Given the description of an element on the screen output the (x, y) to click on. 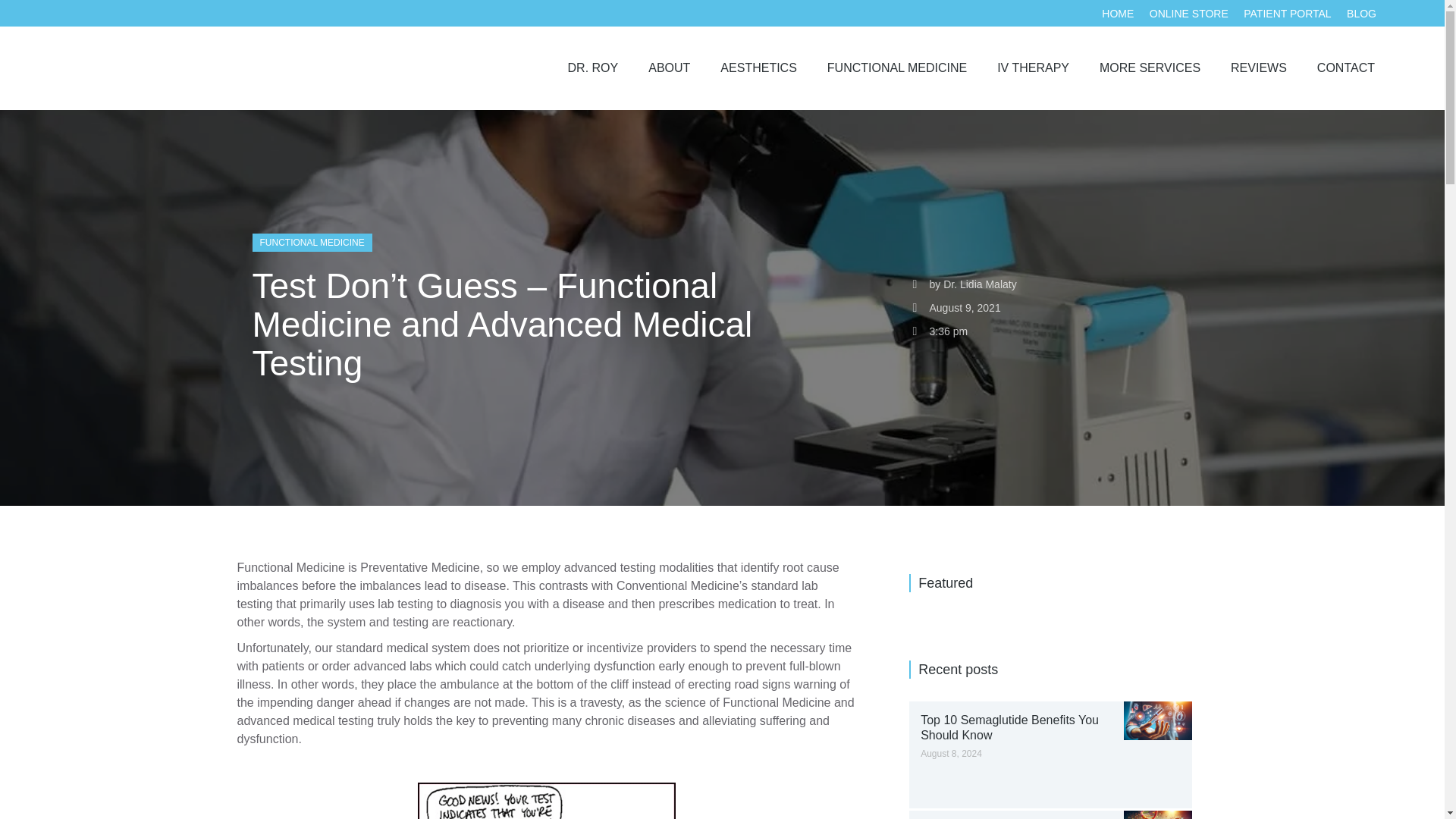
FUNCTIONAL MEDICINE (896, 67)
ONLINE STORE (1189, 13)
AESTHETICS (758, 67)
PATIENT PORTAL (1286, 13)
BLOG (1360, 13)
HOME (1118, 13)
